Given the description of an element on the screen output the (x, y) to click on. 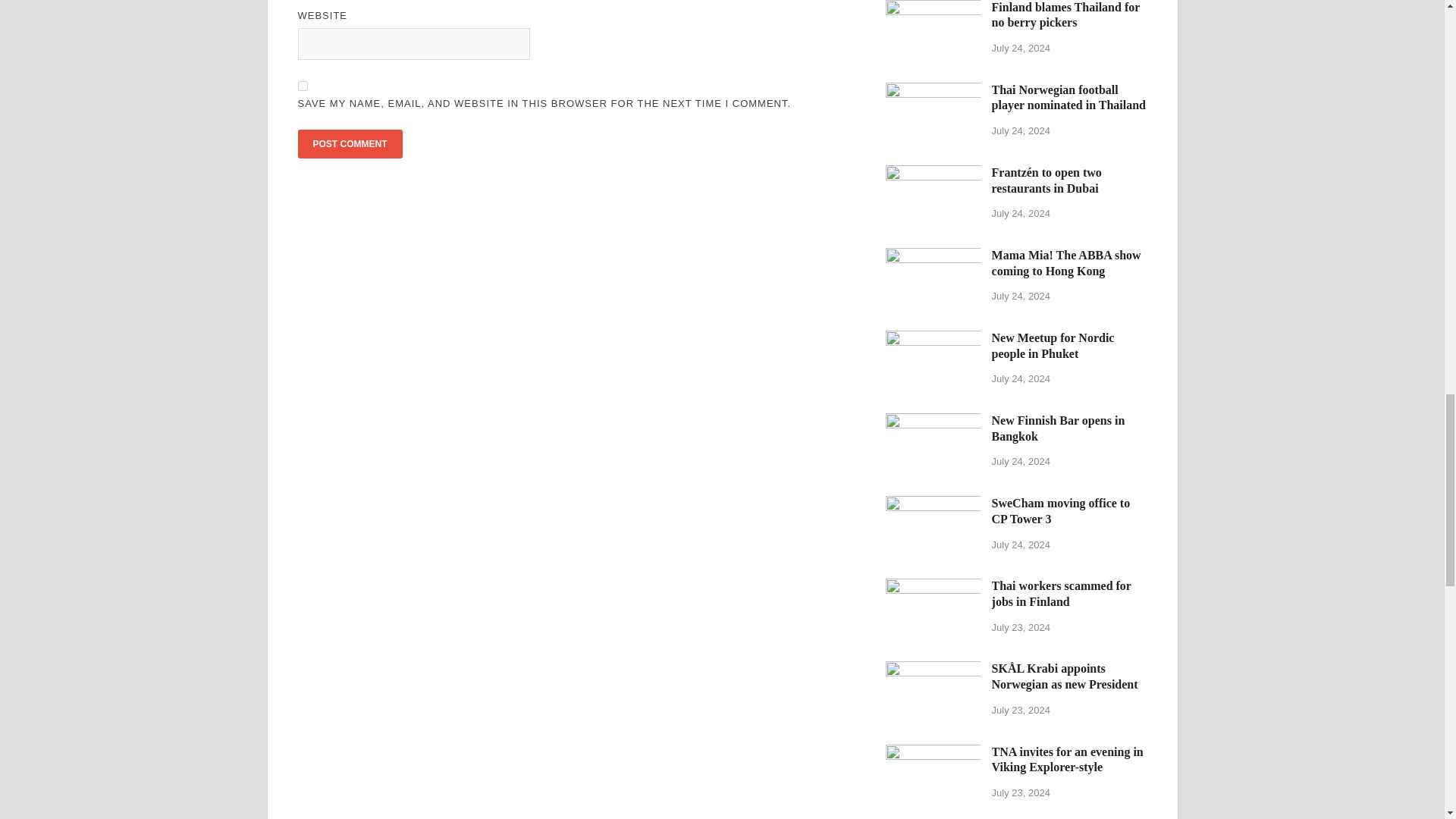
Thai Norwegian football player nominated in Thailand (932, 91)
Finland blames Thailand for no berry pickers (932, 8)
Thai workers scammed for jobs in Finland (932, 586)
New Finnish Bar opens in Bangkok (932, 421)
SweCham moving office to CP Tower 3 (932, 504)
New Meetup for Nordic people in Phuket (932, 338)
yes (302, 85)
Mama Mia! The ABBA show coming to Hong Kong (932, 256)
Post Comment (349, 143)
TNA invites for an evening in Viking Explorer-style (932, 753)
